Given the description of an element on the screen output the (x, y) to click on. 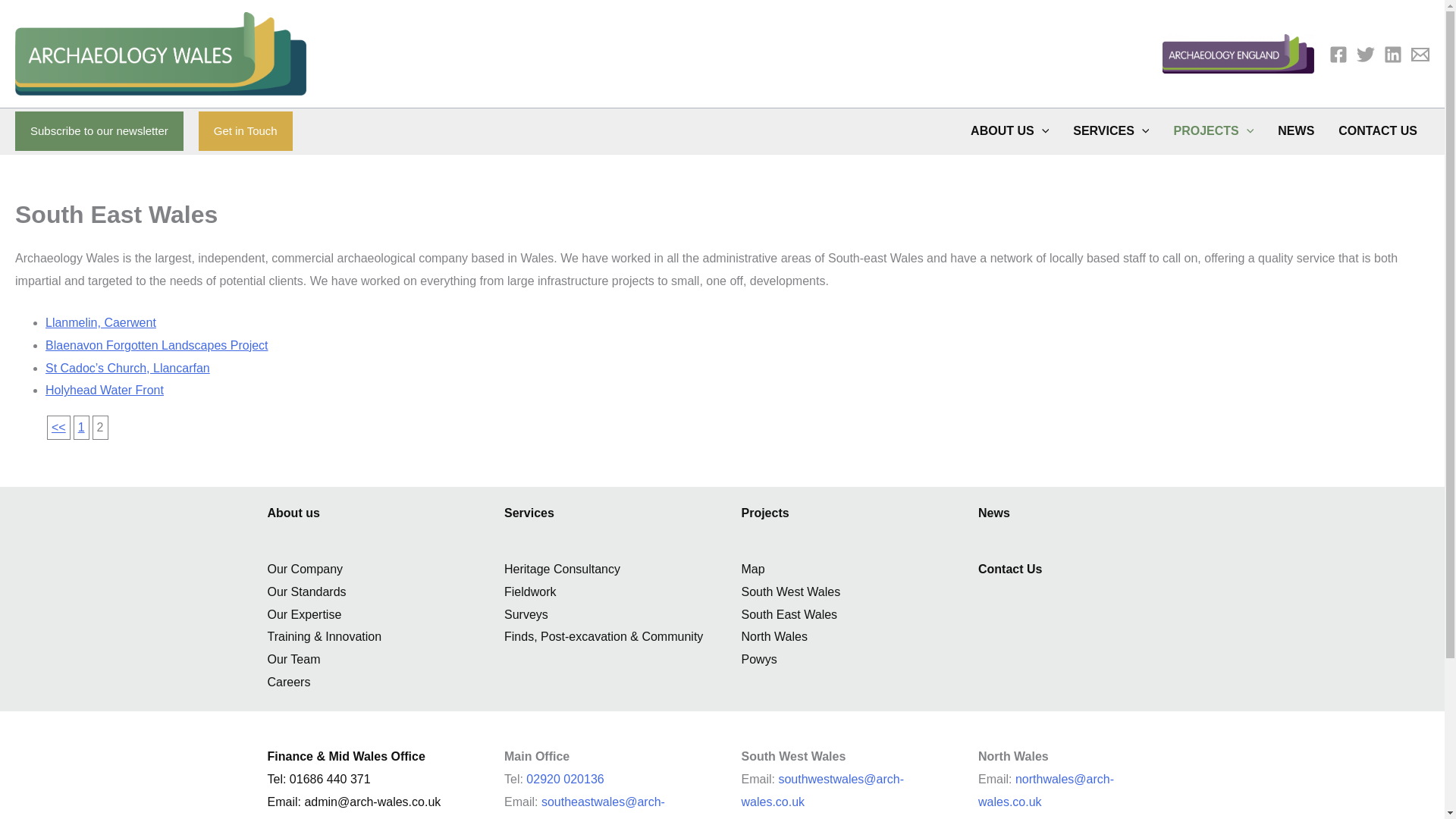
1 (57, 427)
ABOUT US (1009, 130)
SERVICES (1110, 130)
Get in Touch (245, 130)
Subscribe to our newsletter (98, 130)
